Given the description of an element on the screen output the (x, y) to click on. 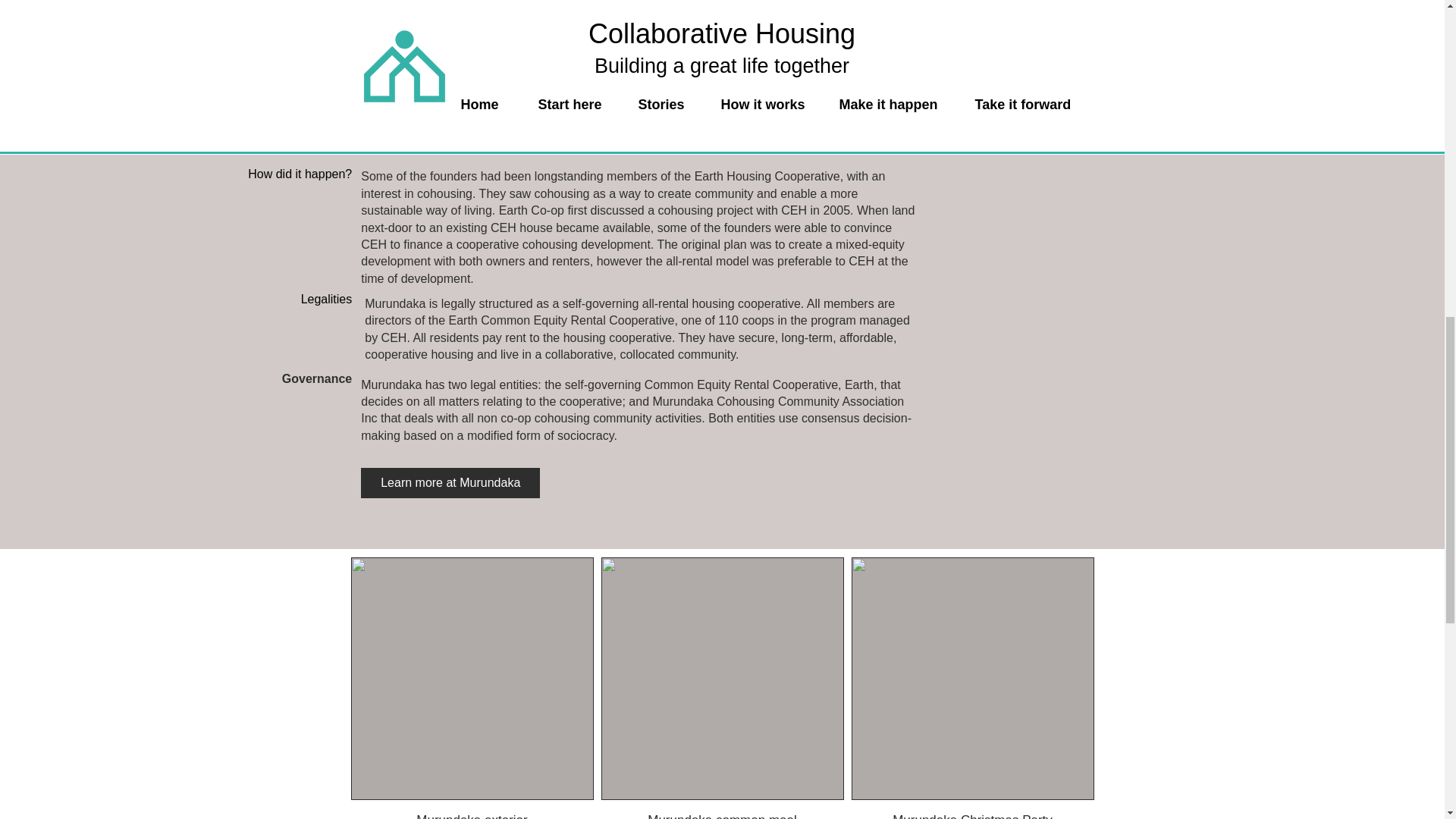
Learn more at Murundaka (450, 482)
